Given the description of an element on the screen output the (x, y) to click on. 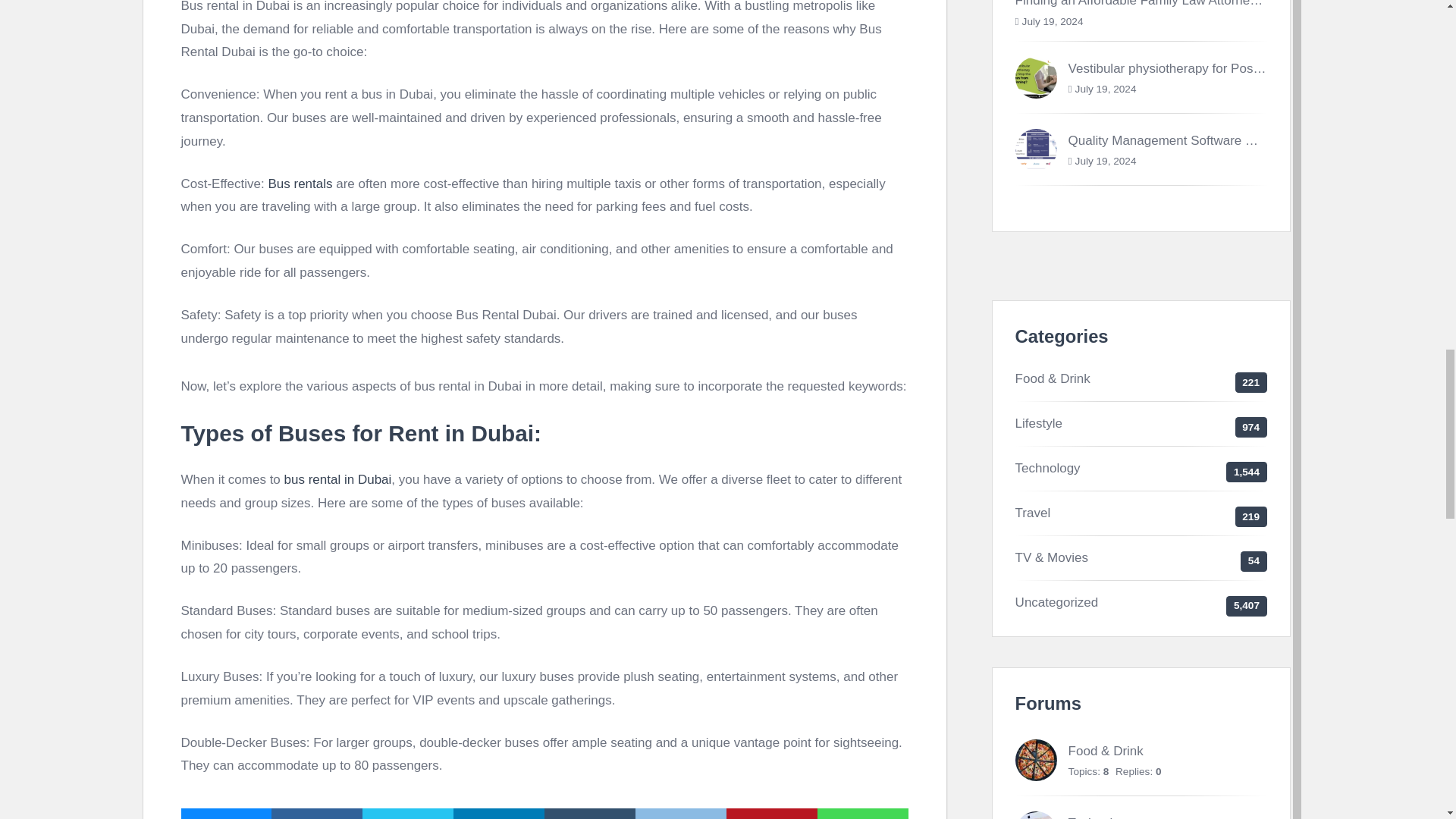
PINTEREST (771, 813)
WHATSAPP (862, 813)
Bus rentals (299, 183)
bus rental in Dubai (337, 479)
LINKEDIN (498, 813)
FACEBOOK (316, 813)
TWITTER (407, 813)
EMAIL (225, 813)
REDDIT (680, 813)
TUMBLR (589, 813)
